Given the description of an element on the screen output the (x, y) to click on. 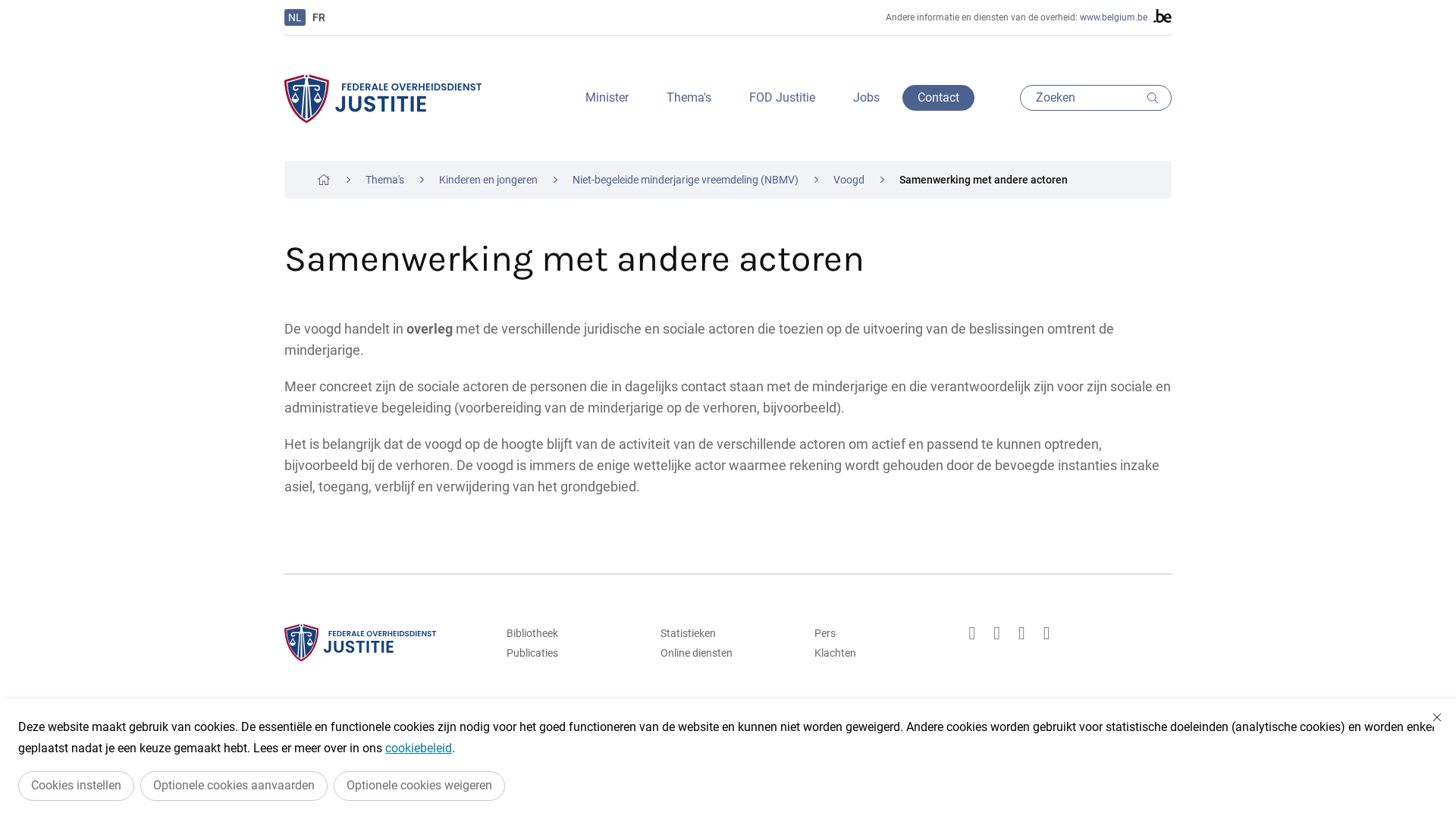
FOD Justitie Element type: text (782, 97)
Minister Element type: text (606, 97)
Thema's Element type: text (384, 179)
Publicaties Element type: text (573, 652)
Cookies instellen Element type: text (76, 785)
FR Element type: text (318, 17)
NL Element type: text (294, 17)
Voogd Element type: text (848, 179)
Gebruiksvoorwaarden Element type: text (632, 731)
Online diensten Element type: text (727, 652)
Terugkeren naar de startpagina van FOD Justitie Element type: hover (382, 97)
Sluiten Element type: hover (1436, 717)
Kinderen en jongeren Element type: text (488, 179)
Uw privacy Element type: text (749, 731)
Optionele cookies weigeren Element type: text (419, 785)
Overslaan en naar de inhoud gaan Element type: text (7, 4)
Apply Element type: text (1155, 97)
Youtube Element type: text (1046, 633)
Jobs Element type: text (865, 97)
Facebook Element type: text (996, 633)
Twitter Element type: text (972, 633)
Zoeken Element type: hover (1095, 97)
Niet-begeleide minderjarige vreemdeling (NBMV) Element type: text (685, 179)
Toegankelijkheidsverklaring Element type: text (876, 731)
Klachten Element type: text (881, 652)
Naar boven Element type: text (1113, 731)
Pers Element type: text (881, 633)
Thema's Element type: text (688, 97)
Optionele cookies aanvaarden Element type: text (233, 785)
cookiebeleid Element type: text (418, 747)
Statistieken Element type: text (727, 633)
LinkedIn Element type: text (1021, 633)
Contact Element type: text (938, 97)
Bibliotheek Element type: text (573, 633)
Home Element type: text (323, 179)
www.belgium.be Element type: text (1113, 17)
